Given the description of an element on the screen output the (x, y) to click on. 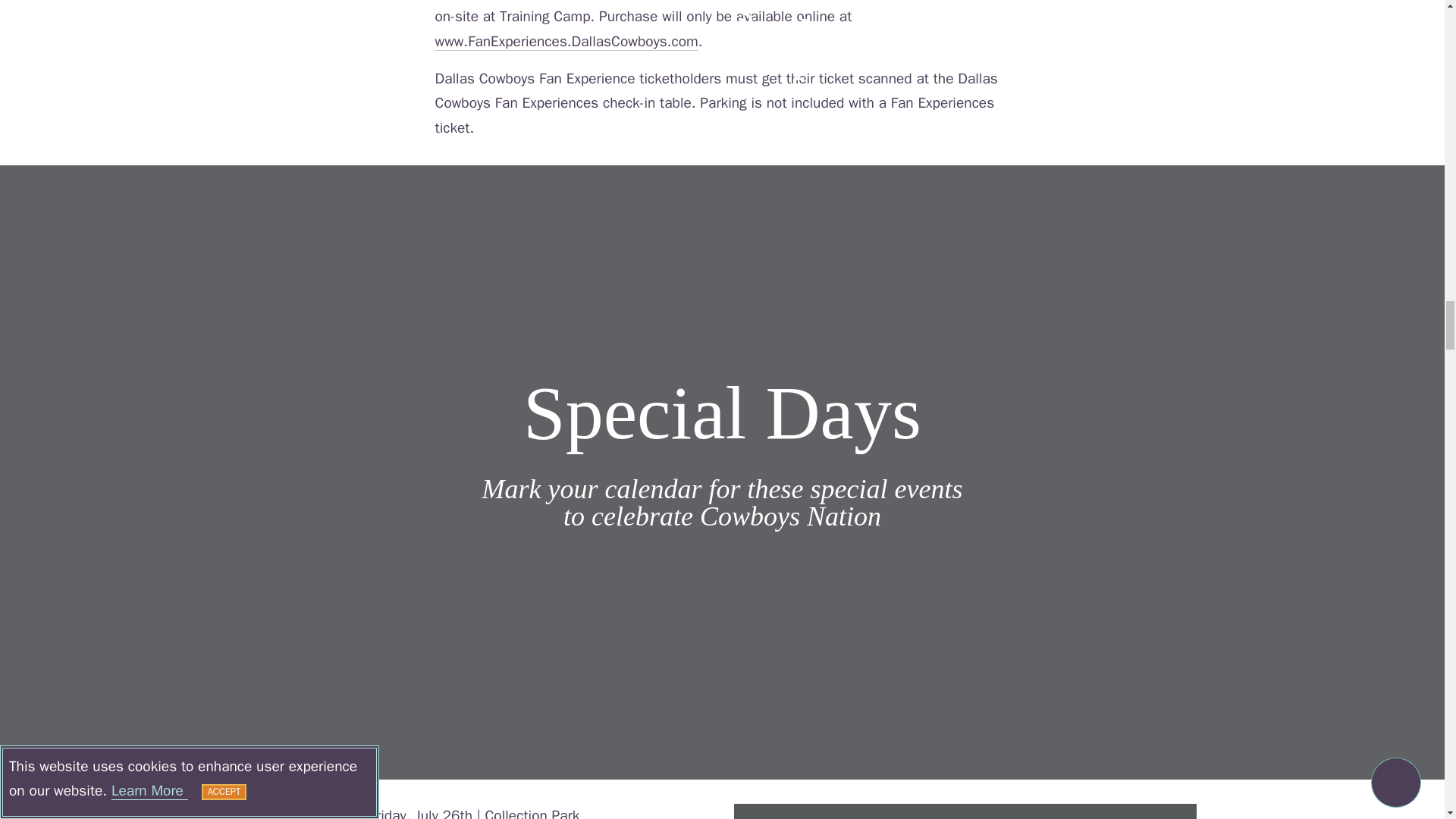
www.FanExperiences.DallasCowboys.com (566, 41)
